Given the description of an element on the screen output the (x, y) to click on. 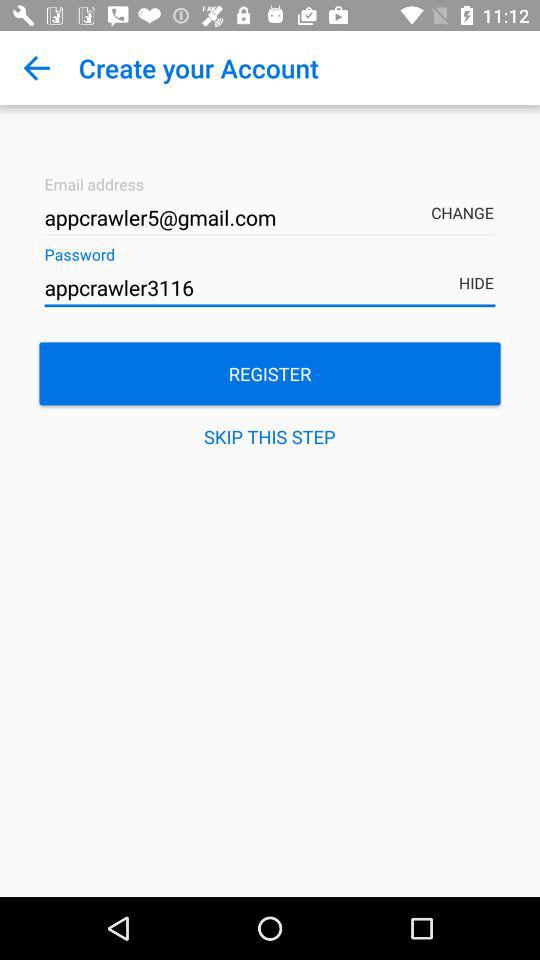
select the register (269, 373)
